Given the description of an element on the screen output the (x, y) to click on. 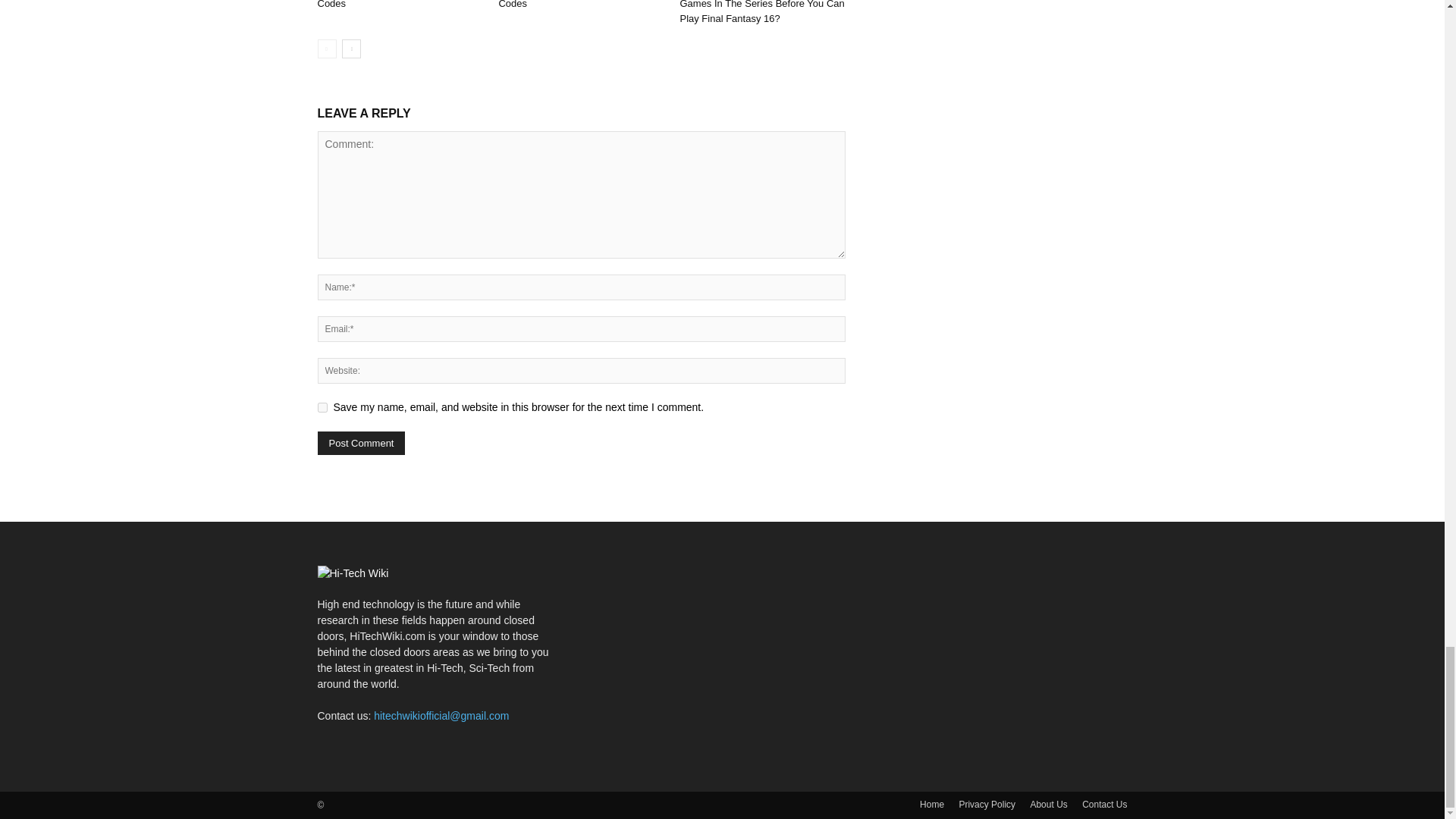
yes (321, 407)
July 2023 Dungeon Defenders 2 Codes (568, 4)
July 2023 Garena Free Fire Redeem Codes (397, 4)
Post Comment (360, 443)
